Given the description of an element on the screen output the (x, y) to click on. 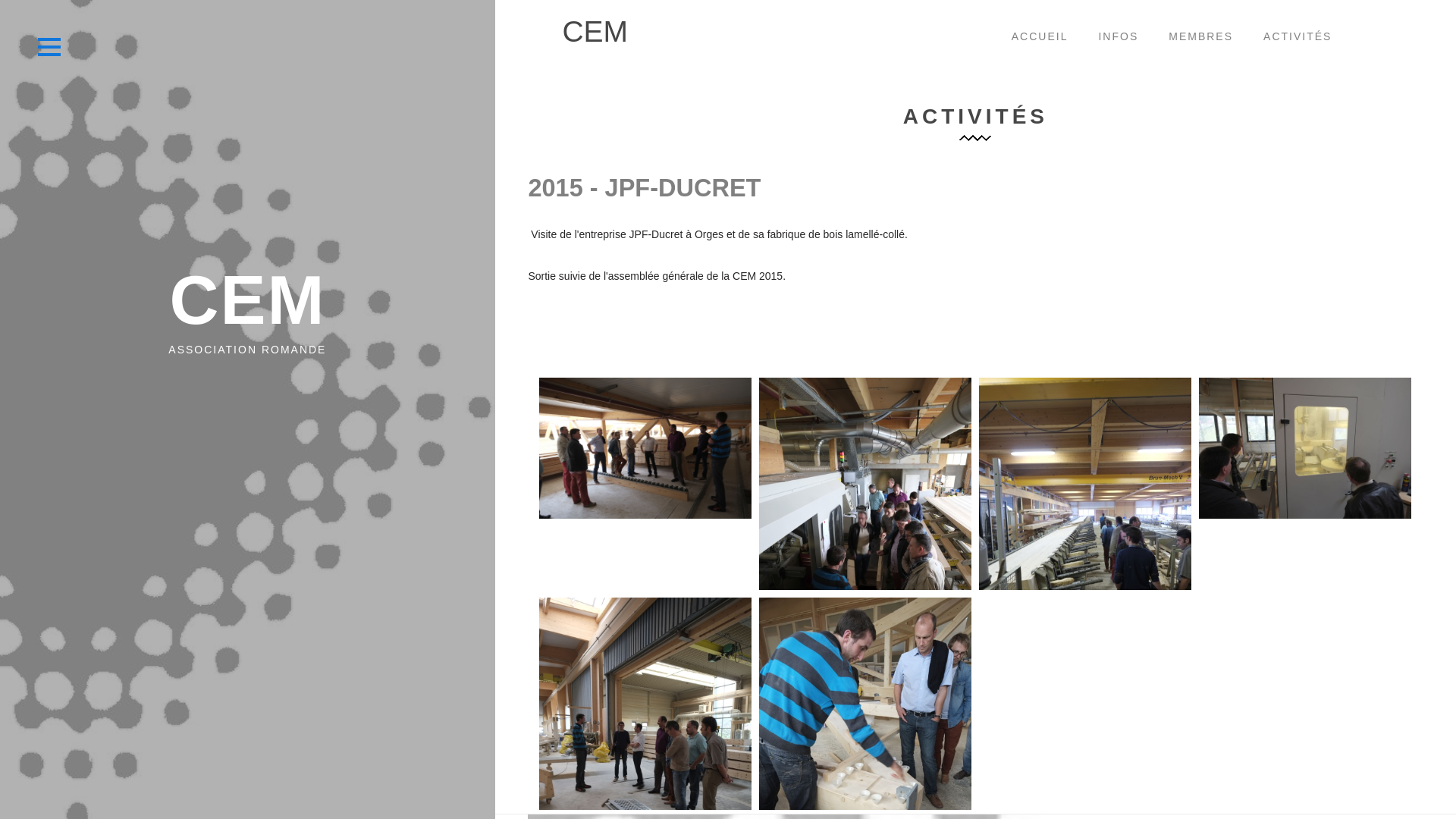
INFOS Element type: text (1117, 37)
MEMBRES Element type: text (1200, 37)
2015 - JPF-DUCRET Element type: text (643, 187)
ACCUEIL Element type: text (1039, 37)
